Given the description of an element on the screen output the (x, y) to click on. 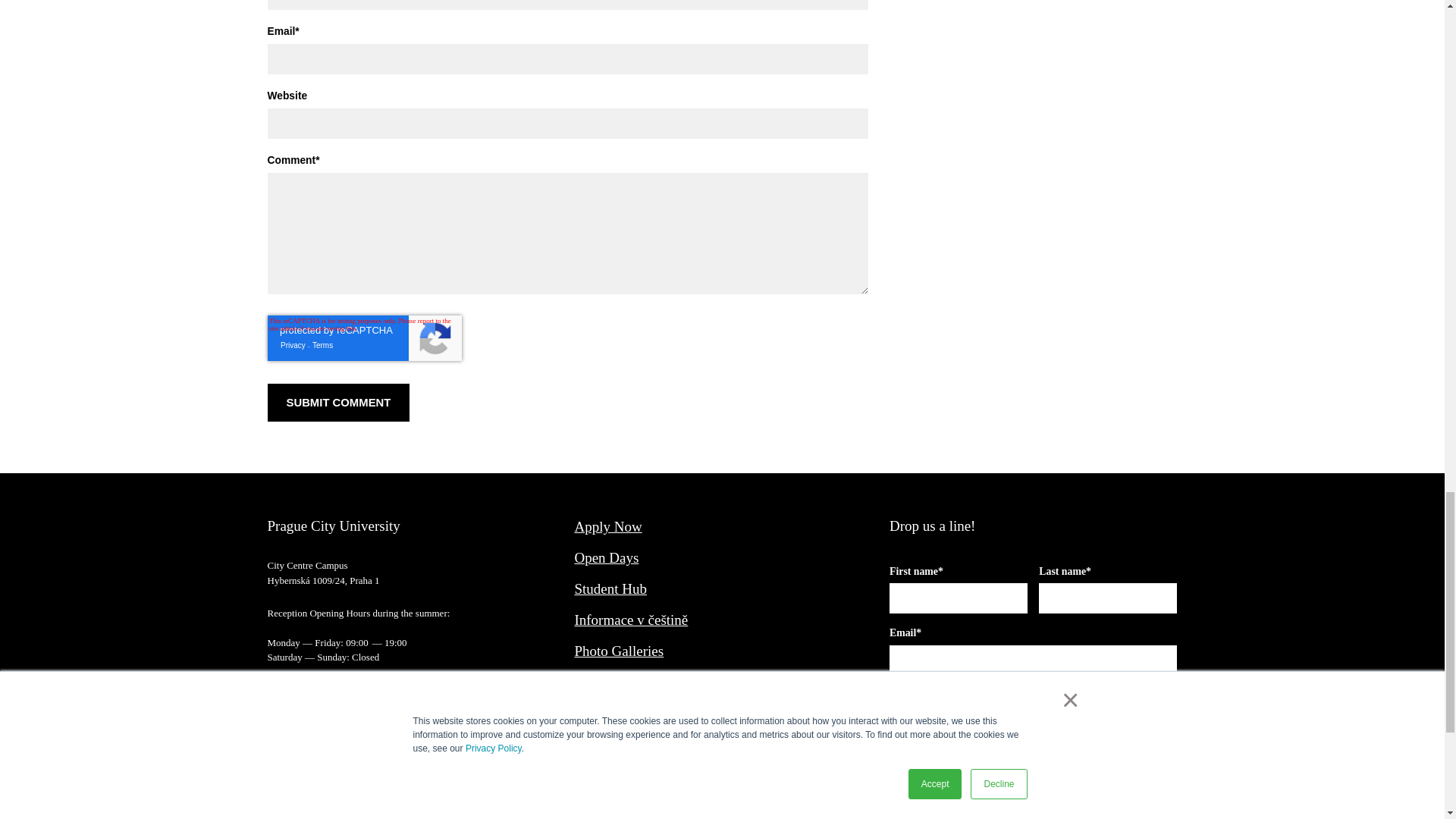
Submit Comment (337, 402)
reCAPTCHA (363, 338)
